Given the description of an element on the screen output the (x, y) to click on. 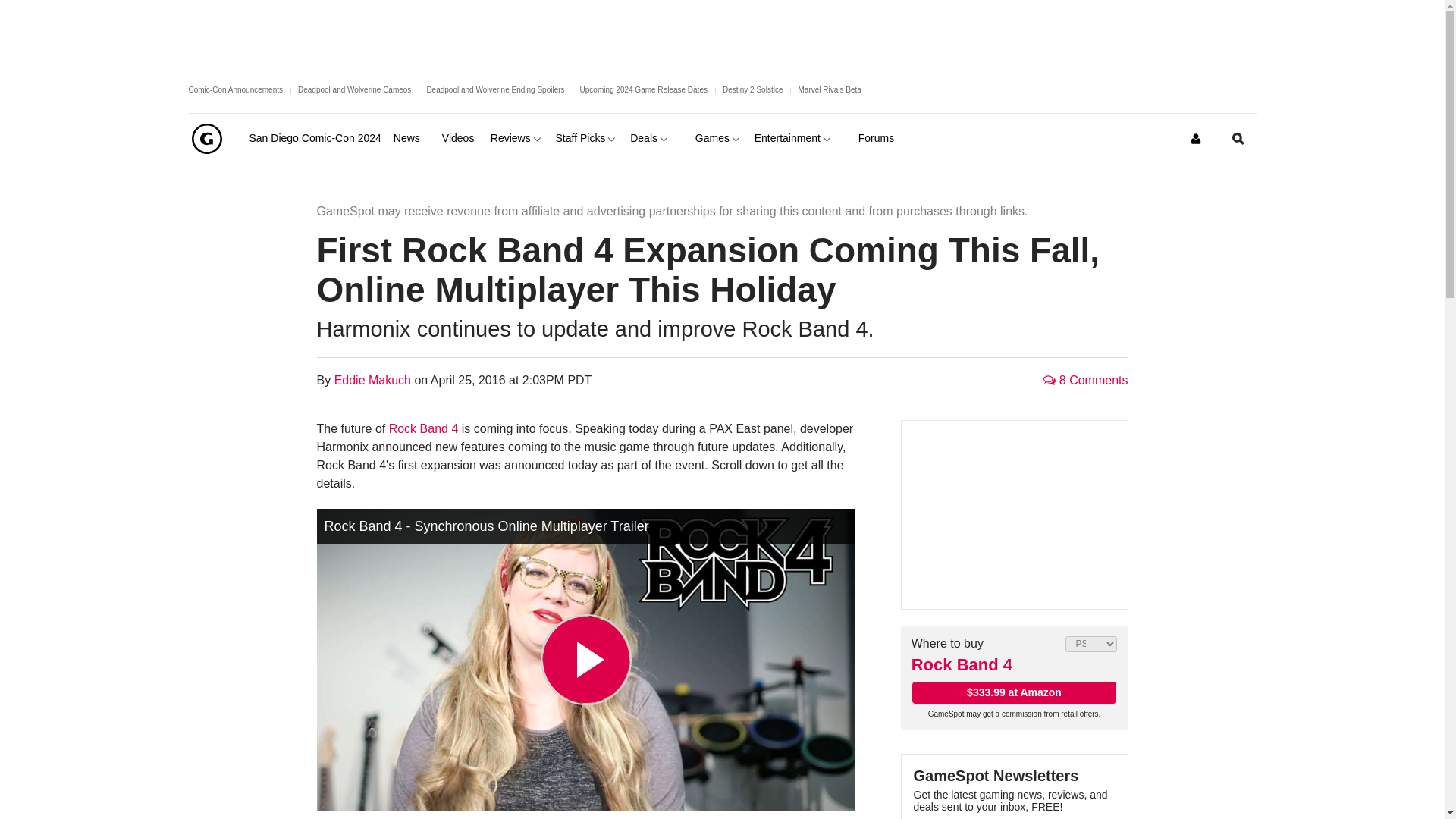
News (411, 138)
Deadpool and Wolverine Cameos (354, 89)
GameSpot (205, 138)
Destiny 2 Solstice (752, 89)
Upcoming 2024 Game Release Dates (643, 89)
Reviews (516, 138)
Staff Picks (587, 138)
Games (718, 138)
Comic-Con Announcements (234, 89)
Videos (460, 138)
Marvel Rivals Beta (828, 89)
San Diego Comic-Con 2024 (314, 138)
Deals (649, 138)
Deadpool and Wolverine Ending Spoilers (495, 89)
